Given the description of an element on the screen output the (x, y) to click on. 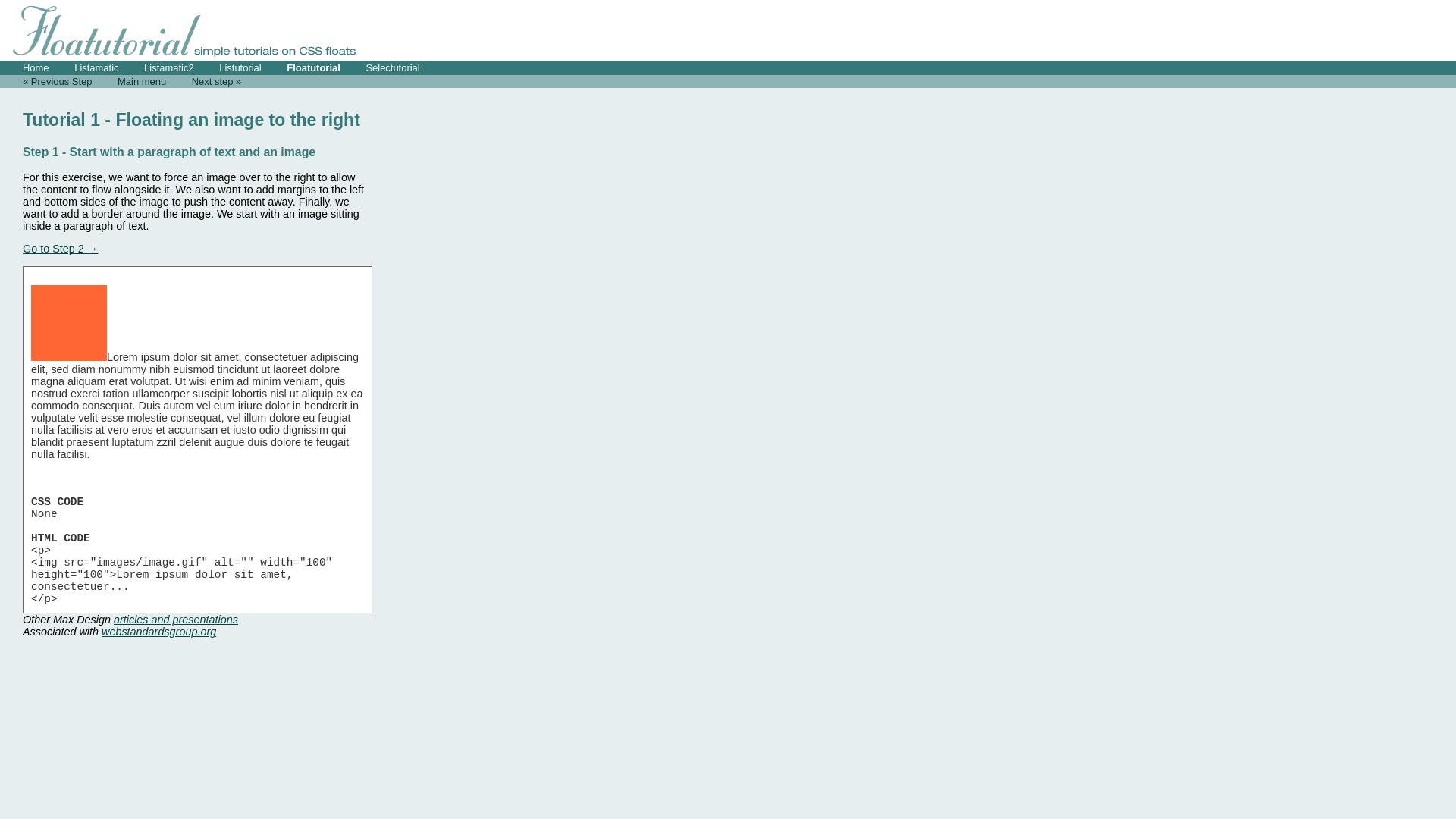
Selectutorial Element type: text (392, 67)
Main menu Element type: text (141, 81)
Floatutorial Element type: text (313, 67)
webstandardsgroup.org Element type: text (158, 631)
Listutorial Element type: text (239, 67)
Home Element type: text (35, 67)
Listamatic Element type: text (96, 67)
Listamatic2 Element type: text (169, 67)
articles and presentations Element type: text (175, 619)
